Given the description of an element on the screen output the (x, y) to click on. 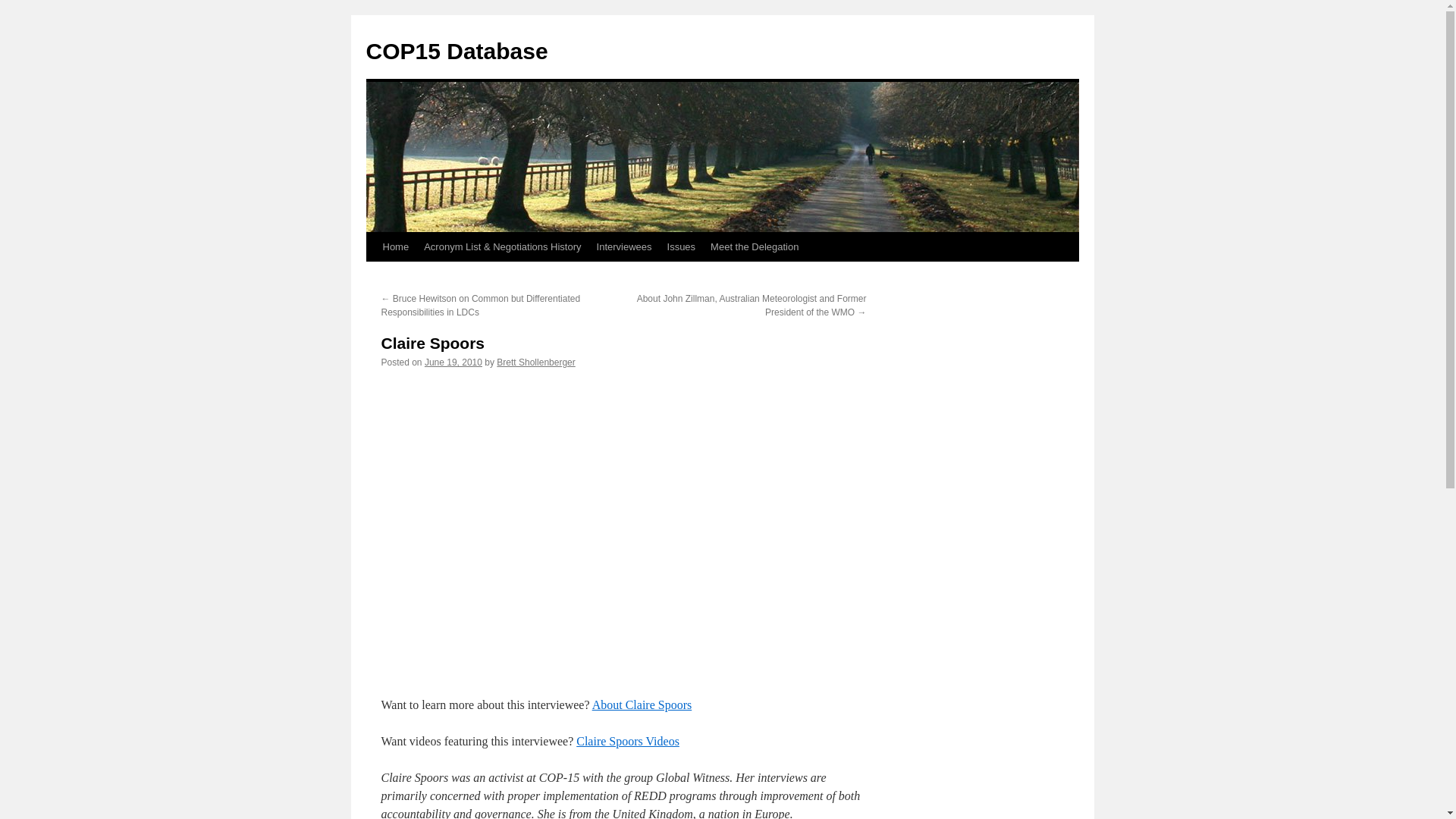
COP15 Database (456, 50)
Meet the Delegation (754, 246)
3:01 pm (453, 362)
June 19, 2010 (453, 362)
Claire Spoors Videos (627, 740)
Home (395, 246)
Brett Shollenberger (535, 362)
Issues (681, 246)
About Claire Spoors (642, 704)
View all posts by Brett Shollenberger (535, 362)
